Given the description of an element on the screen output the (x, y) to click on. 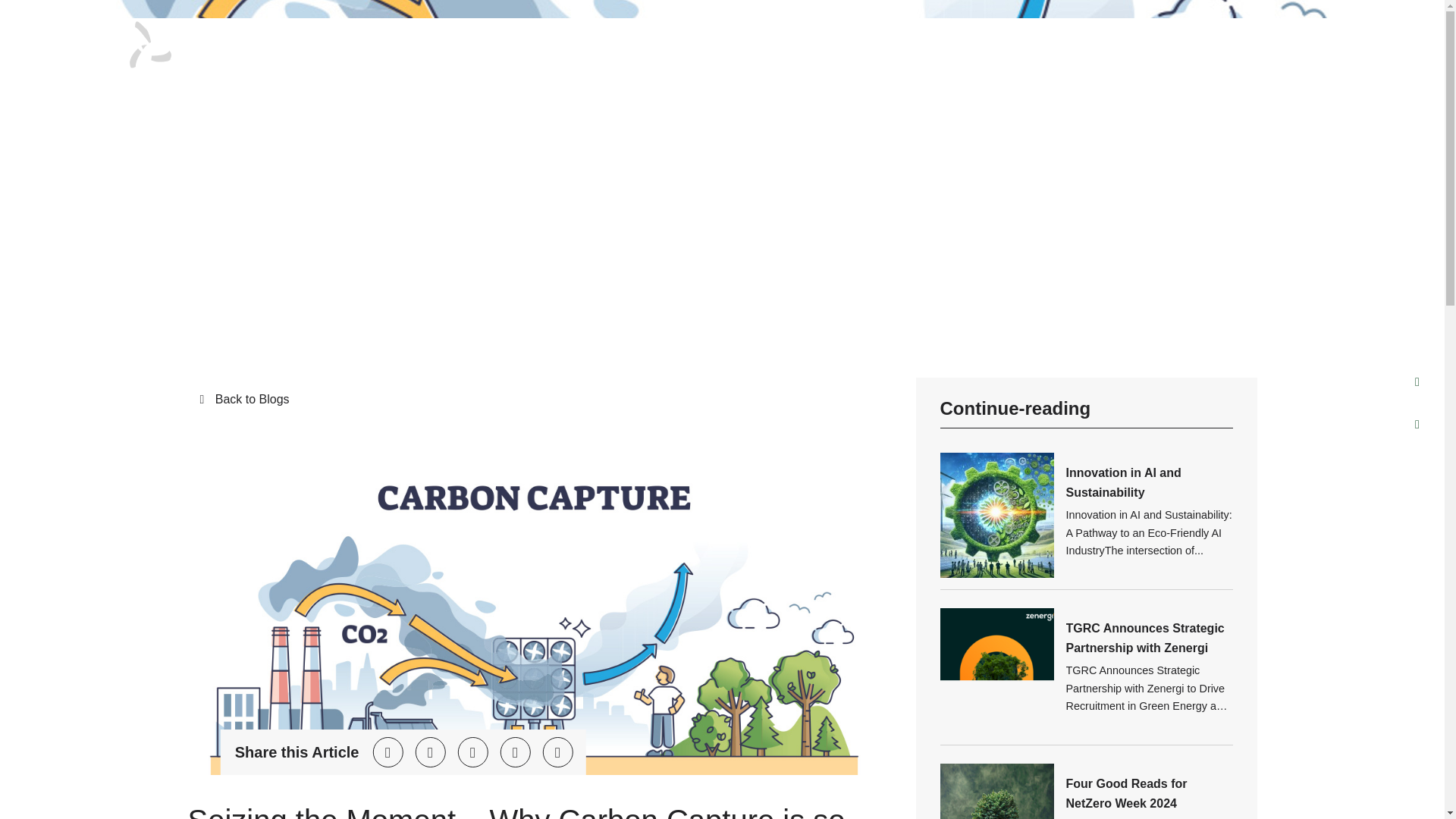
SECTORS (1003, 40)
share on LinkedIn (472, 752)
CONTACT (1175, 40)
WORK FOR US (903, 40)
ABOUT (628, 40)
share on Facebook (429, 752)
Home (196, 168)
JOBS (693, 40)
